Given the description of an element on the screen output the (x, y) to click on. 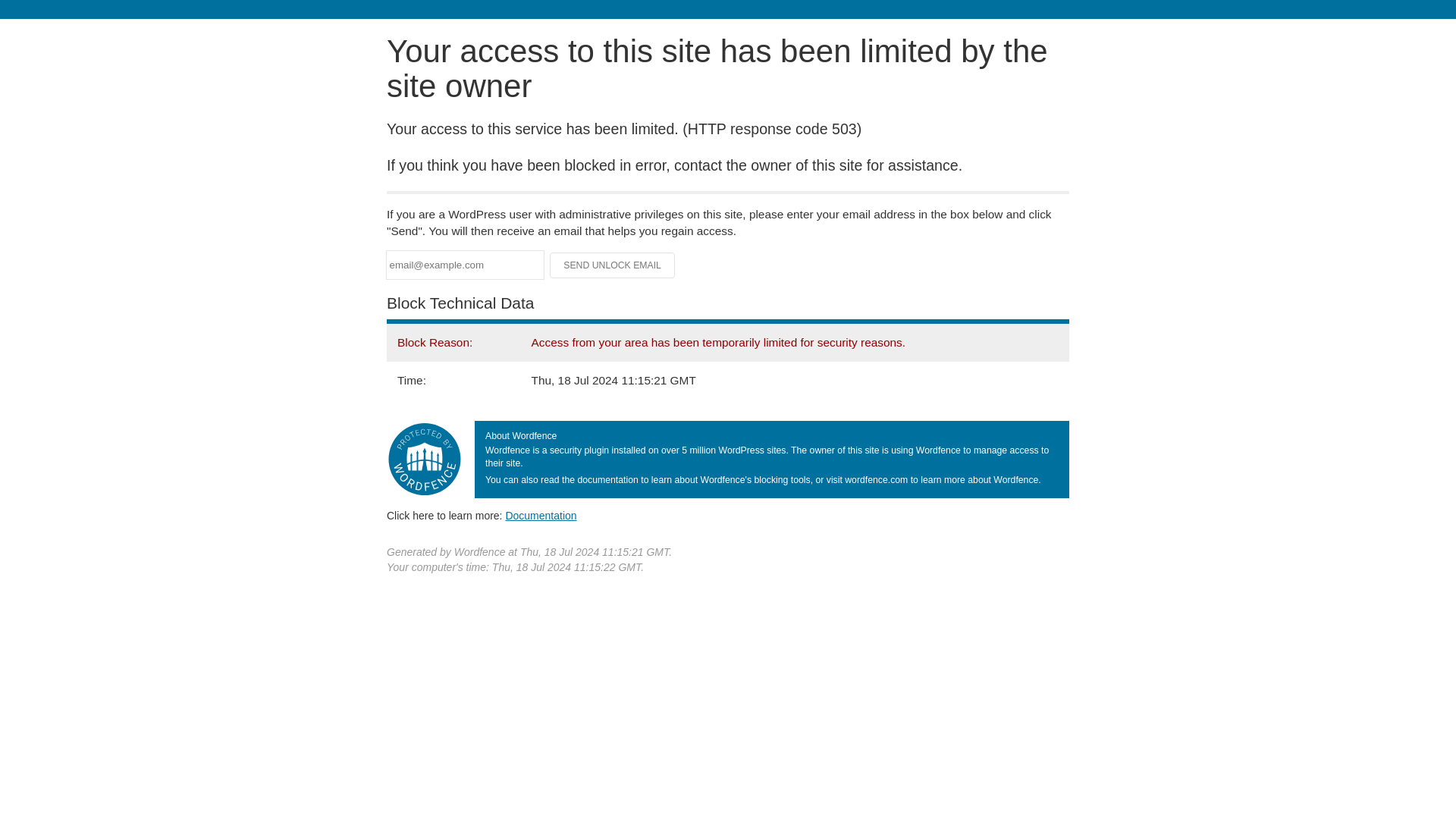
Send Unlock Email (612, 265)
Send Unlock Email (612, 265)
Documentation (540, 515)
